Given the description of an element on the screen output the (x, y) to click on. 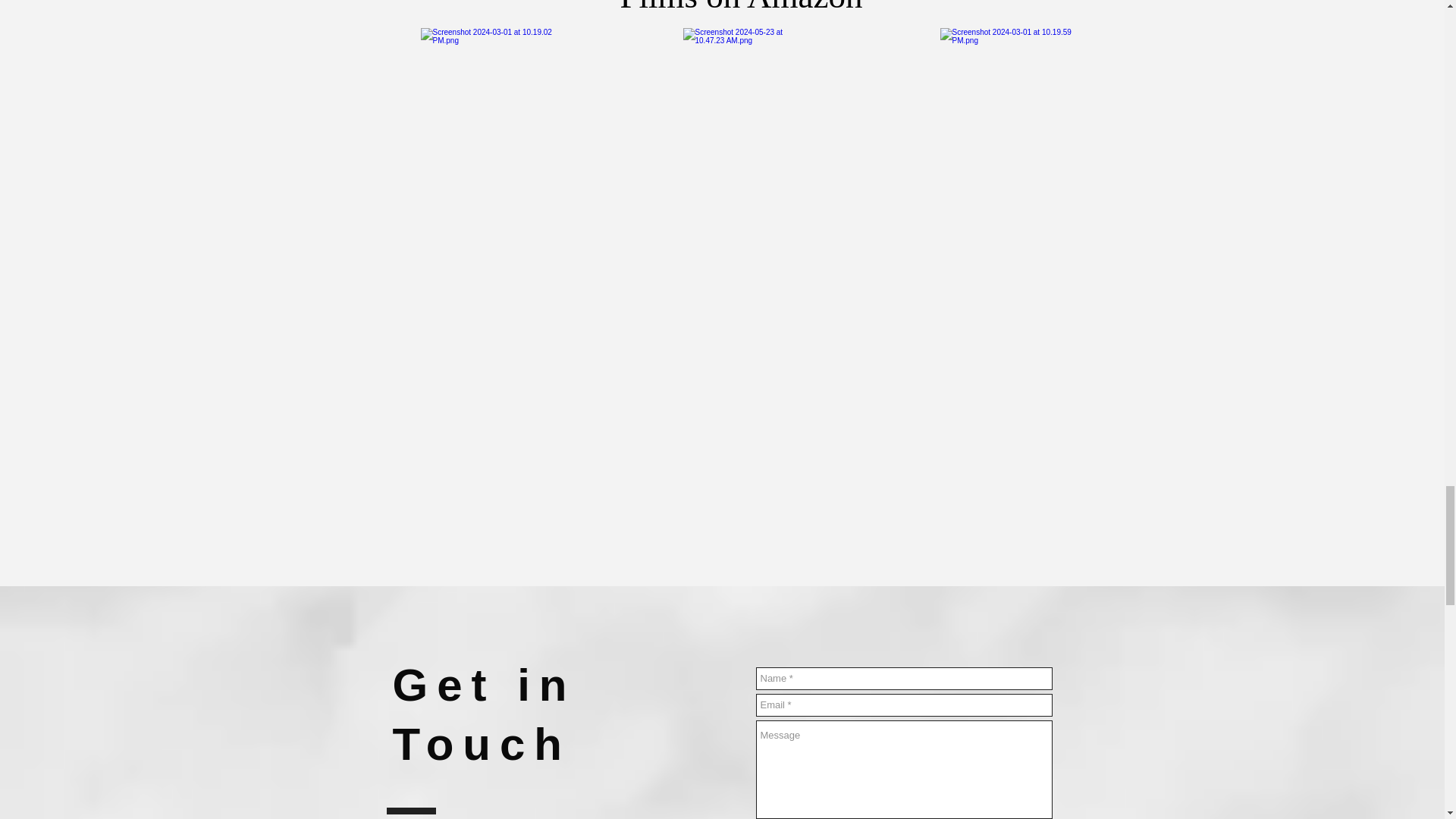
Films on Amazon  (745, 7)
Screen Shot 2016-06-24 at 9.48.29 PM.png (1008, 118)
Screen Shot 2016-06-24 at 9.48.29 PM.png (489, 126)
Screen Shot 2016-06-24 at 9.48.29 PM.png (747, 118)
